Given the description of an element on the screen output the (x, y) to click on. 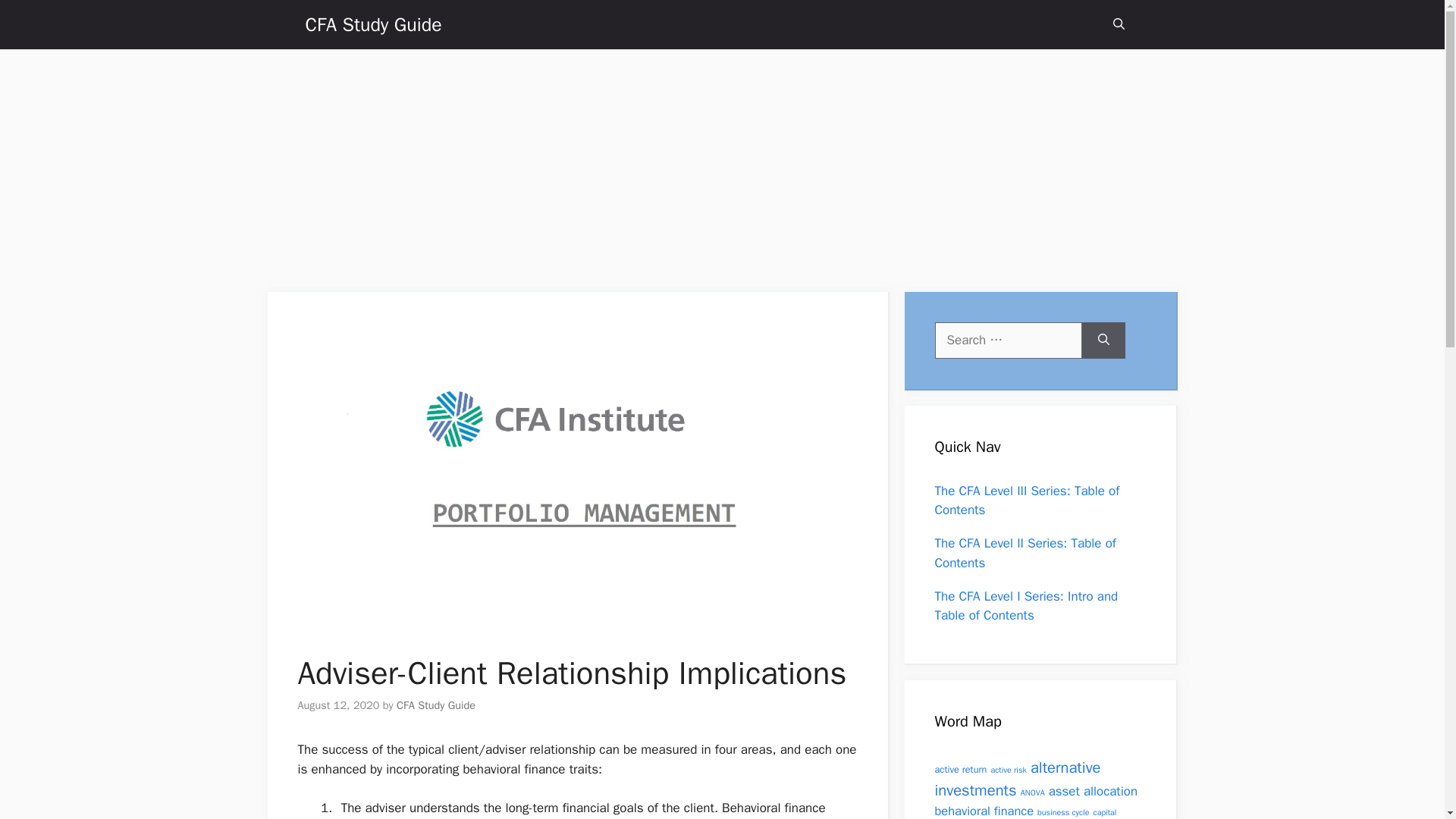
The CFA Level I Series: Intro and Table of Contents (1026, 606)
ANOVA (1032, 792)
behavioral finance (983, 811)
business cycle (1062, 812)
The CFA Level II Series: Table of Contents (1024, 552)
capital account (1025, 813)
CFA Study Guide (436, 704)
asset allocation (1092, 790)
active risk (1008, 768)
The CFA Level III Series: Table of Contents (1026, 499)
